Given the description of an element on the screen output the (x, y) to click on. 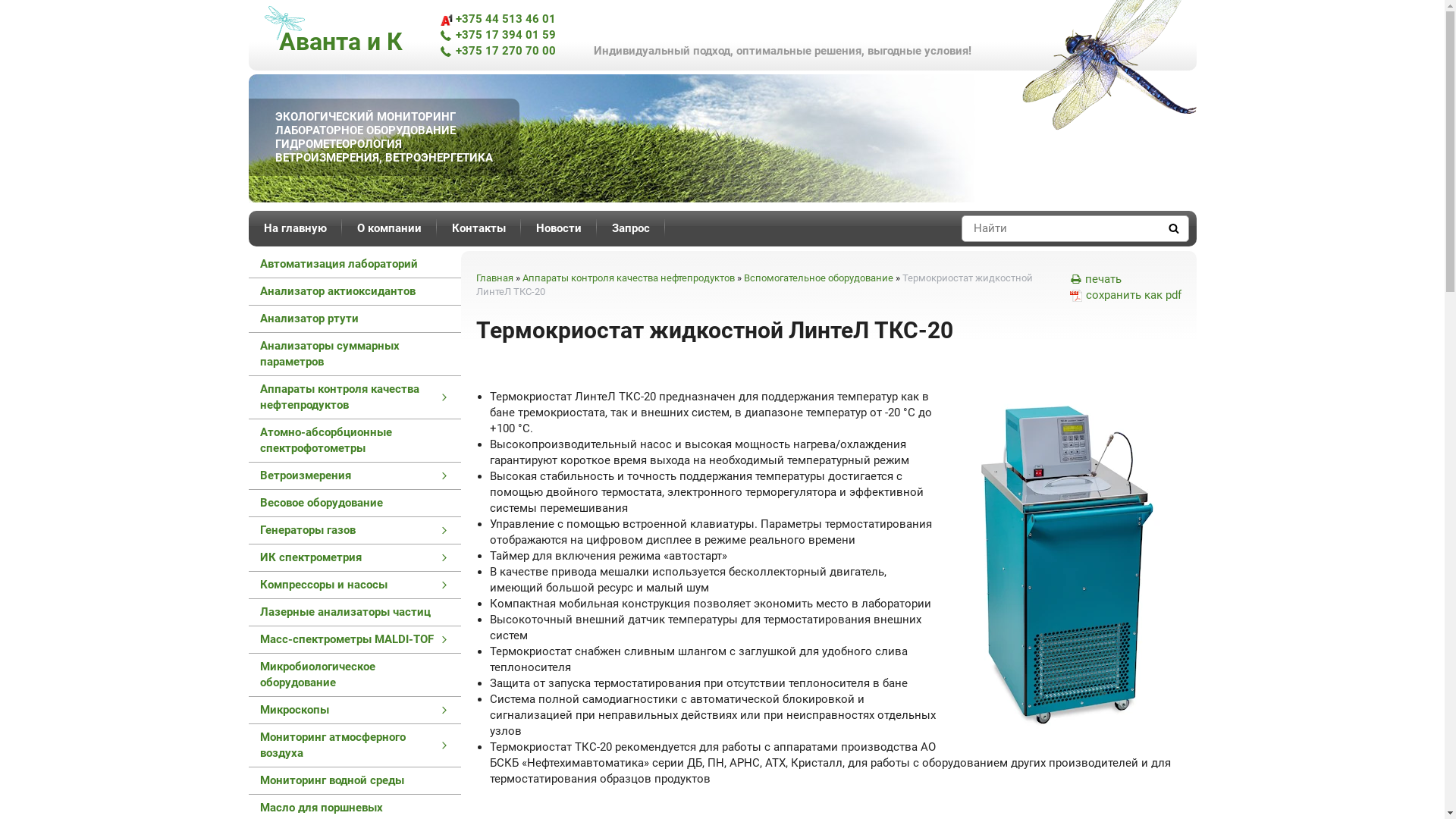
+375 17 270 70 00 Element type: text (497, 50)
+375 17 394 01 59 Element type: text (497, 34)
+375 44 513 46 01 Element type: text (497, 18)
